Given the description of an element on the screen output the (x, y) to click on. 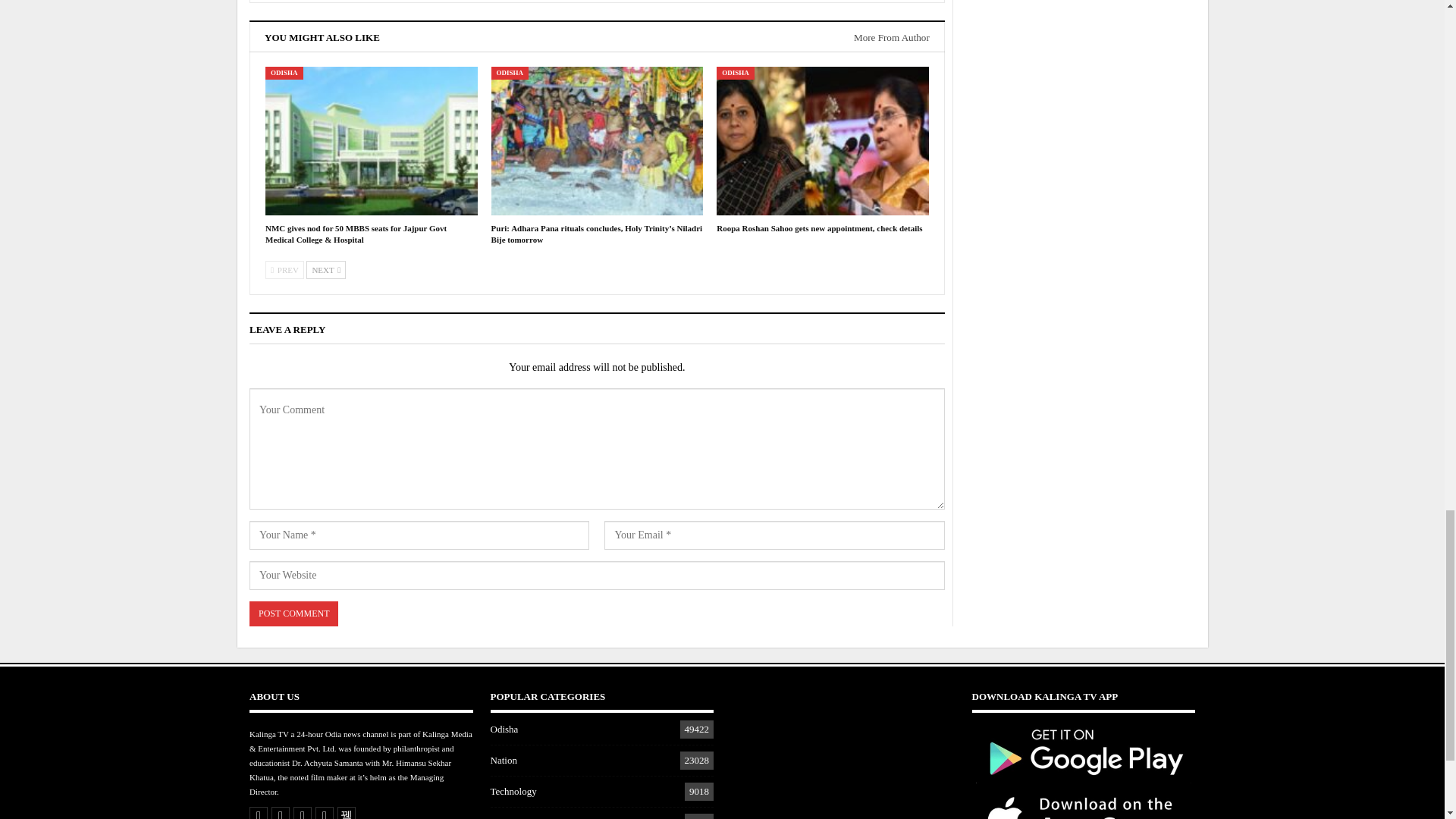
Roopa Roshan Sahoo gets new appointment, check details (822, 140)
Post Comment (292, 613)
